Given the description of an element on the screen output the (x, y) to click on. 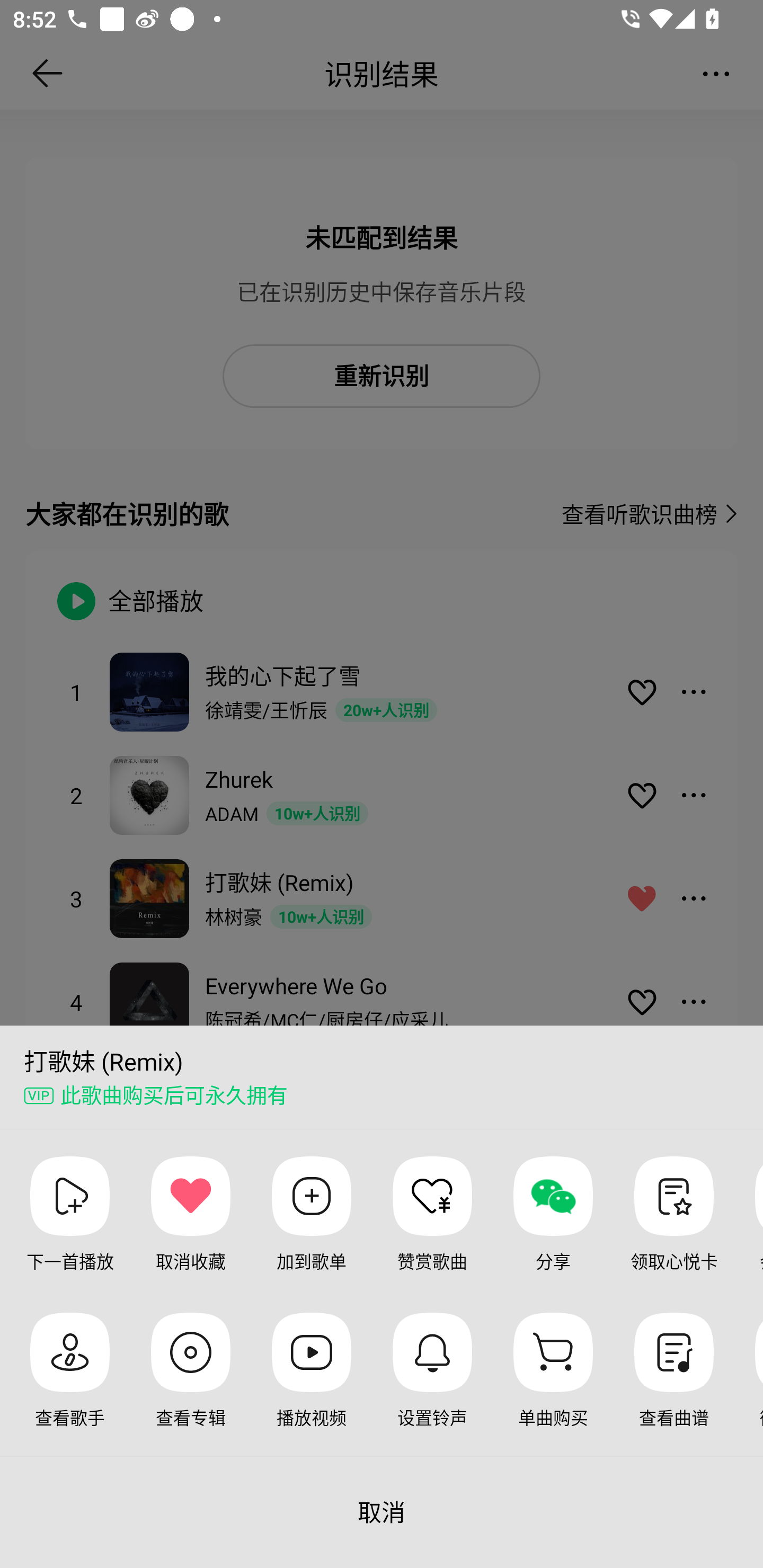
下一首播放 (69, 1228)
取消收藏 (190, 1228)
加到歌单 (311, 1228)
赞赏歌曲 (432, 1228)
分享 (552, 1228)
领取心悦卡 (673, 1228)
查看歌手 (69, 1383)
查看专辑 (190, 1383)
播放视频 (311, 1383)
设置铃声 (432, 1383)
单曲购买 (552, 1383)
查看曲谱 (673, 1383)
取消 (381, 1512)
